Given the description of an element on the screen output the (x, y) to click on. 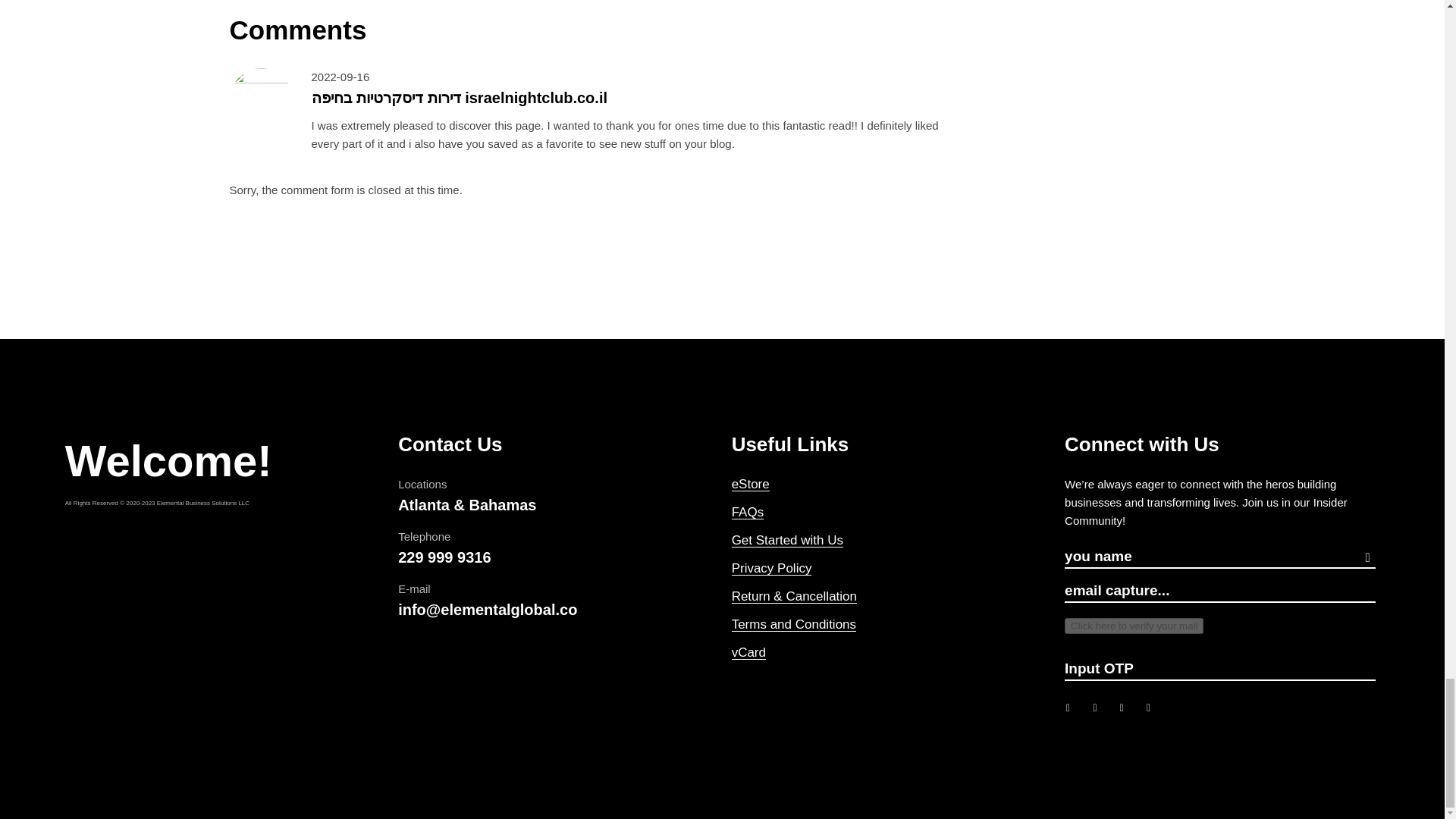
Click here to verify your mail (1134, 625)
